Given the description of an element on the screen output the (x, y) to click on. 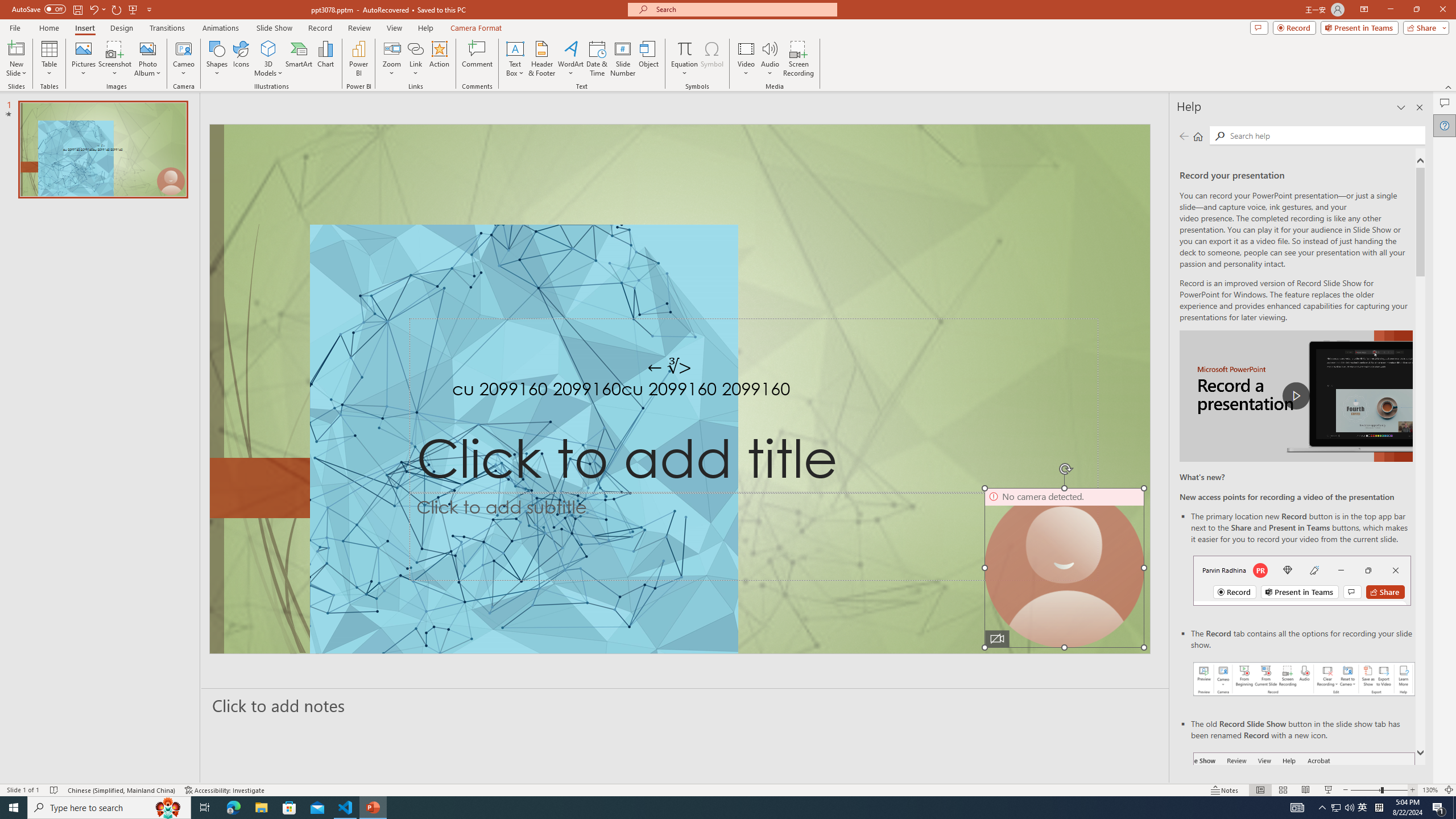
Text Box (515, 58)
Cameo (183, 58)
Search (1325, 135)
Photo Album... (147, 58)
Power BI (358, 58)
